Given the description of an element on the screen output the (x, y) to click on. 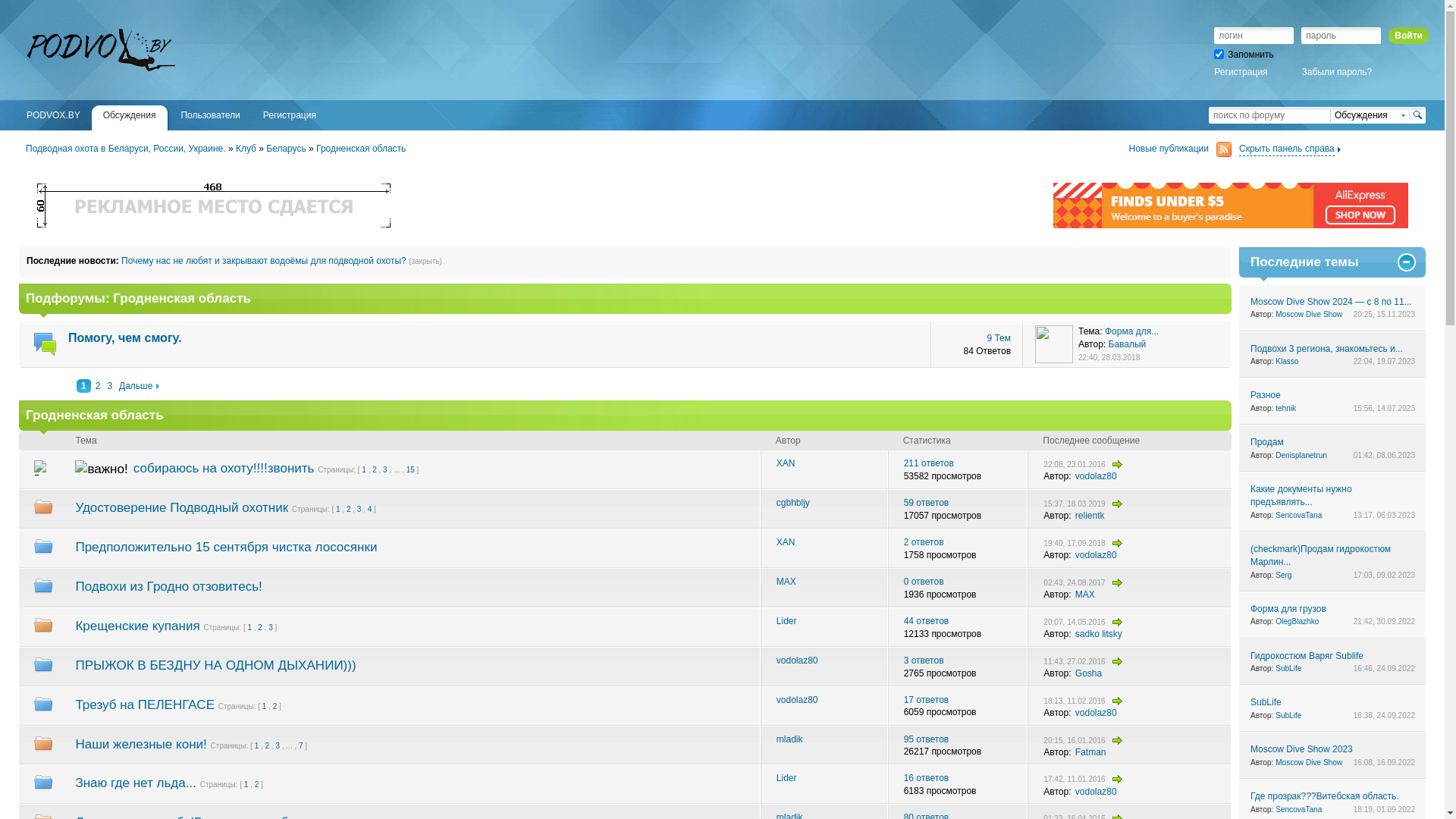
vodolaz80 Element type: text (1096, 712)
3 Element type: text (109, 385)
Serg Element type: text (1283, 575)
1 Element type: text (246, 784)
Denisplanetrun Element type: text (1301, 455)
SencovaTana Element type: text (1298, 515)
Fatman Element type: text (1090, 751)
Moscow Dive Show Element type: text (1308, 762)
sadko litsky Element type: text (1098, 633)
vodolaz80 Element type: text (797, 699)
Gosha Element type: text (1088, 673)
cgbhbljy Element type: text (792, 502)
SubLife Element type: text (1288, 715)
vodolaz80 Element type: text (1096, 554)
3 Element type: text (270, 627)
1 Element type: text (256, 745)
Moscow Dive Show 2023 Element type: text (1301, 748)
2 Element type: text (97, 385)
2 Element type: text (374, 469)
SubLife Element type: text (1288, 668)
1 Element type: text (264, 706)
1 Element type: text (363, 469)
4 Element type: text (369, 509)
SencovaTana Element type: text (1298, 809)
tehnik Element type: text (1285, 408)
2 Element type: text (259, 627)
15 Element type: text (410, 469)
2 Element type: text (348, 509)
Lider Element type: text (786, 620)
XAN Element type: text (785, 463)
1 Element type: text (337, 509)
relientk Element type: text (1089, 515)
7 Element type: text (300, 745)
Lider Element type: text (786, 777)
Klasso Element type: text (1286, 361)
mladik Element type: text (789, 739)
1 Element type: text (249, 627)
2 Element type: text (267, 745)
vodolaz80 Element type: text (797, 660)
2 Element type: text (256, 784)
3 Element type: text (384, 469)
3 Element type: text (359, 509)
vodolaz80 Element type: text (1096, 791)
PODVOX.BY Element type: text (53, 117)
XAN Element type: text (785, 541)
vodolaz80 Element type: text (1096, 475)
Moscow Dive Show Element type: text (1308, 314)
OlegBlazhko Element type: text (1296, 621)
2 Element type: text (275, 706)
3 Element type: text (277, 745)
SubLife Element type: text (1265, 701)
